Given the description of an element on the screen output the (x, y) to click on. 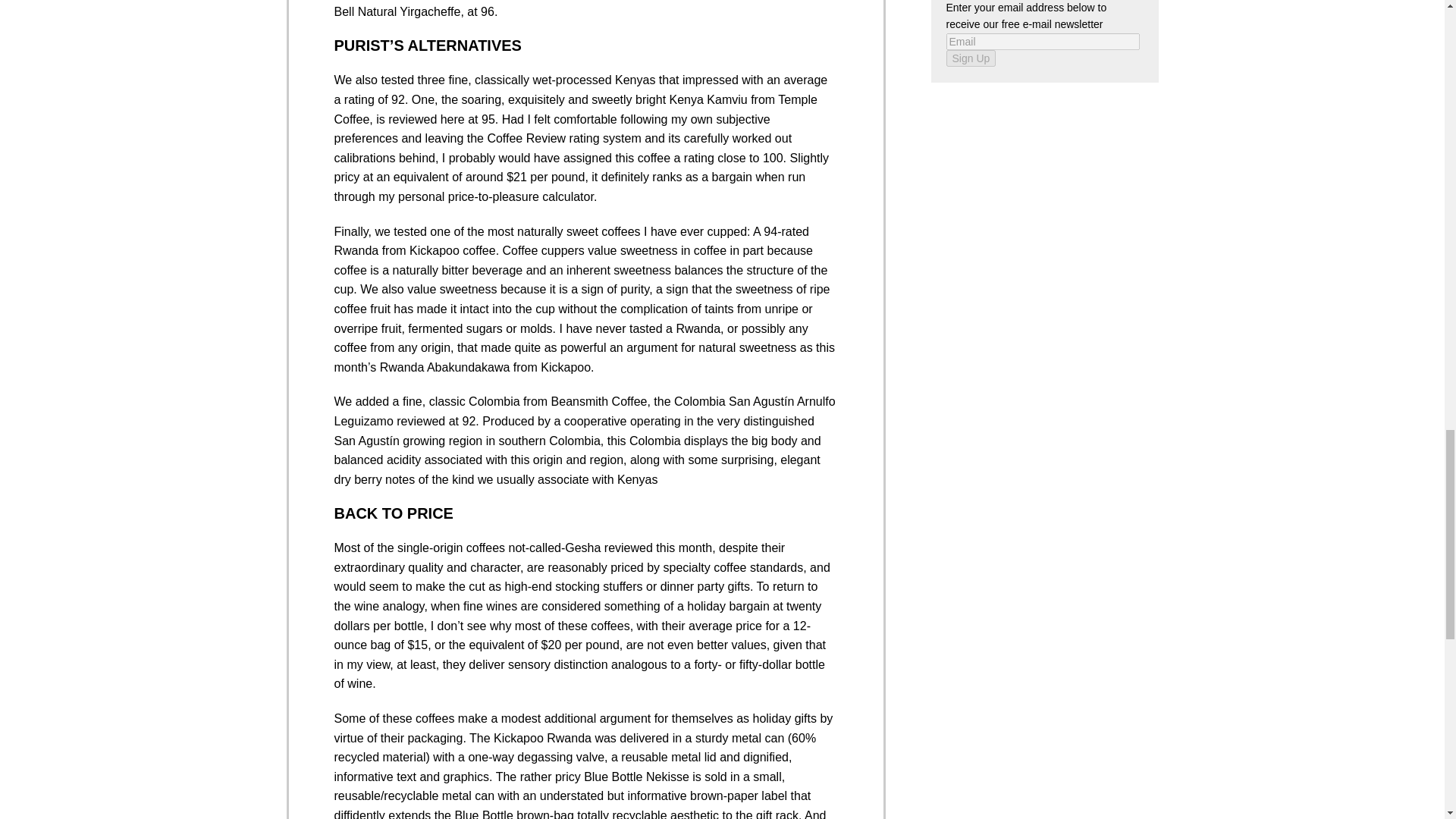
Sign Up (970, 57)
